Given the description of an element on the screen output the (x, y) to click on. 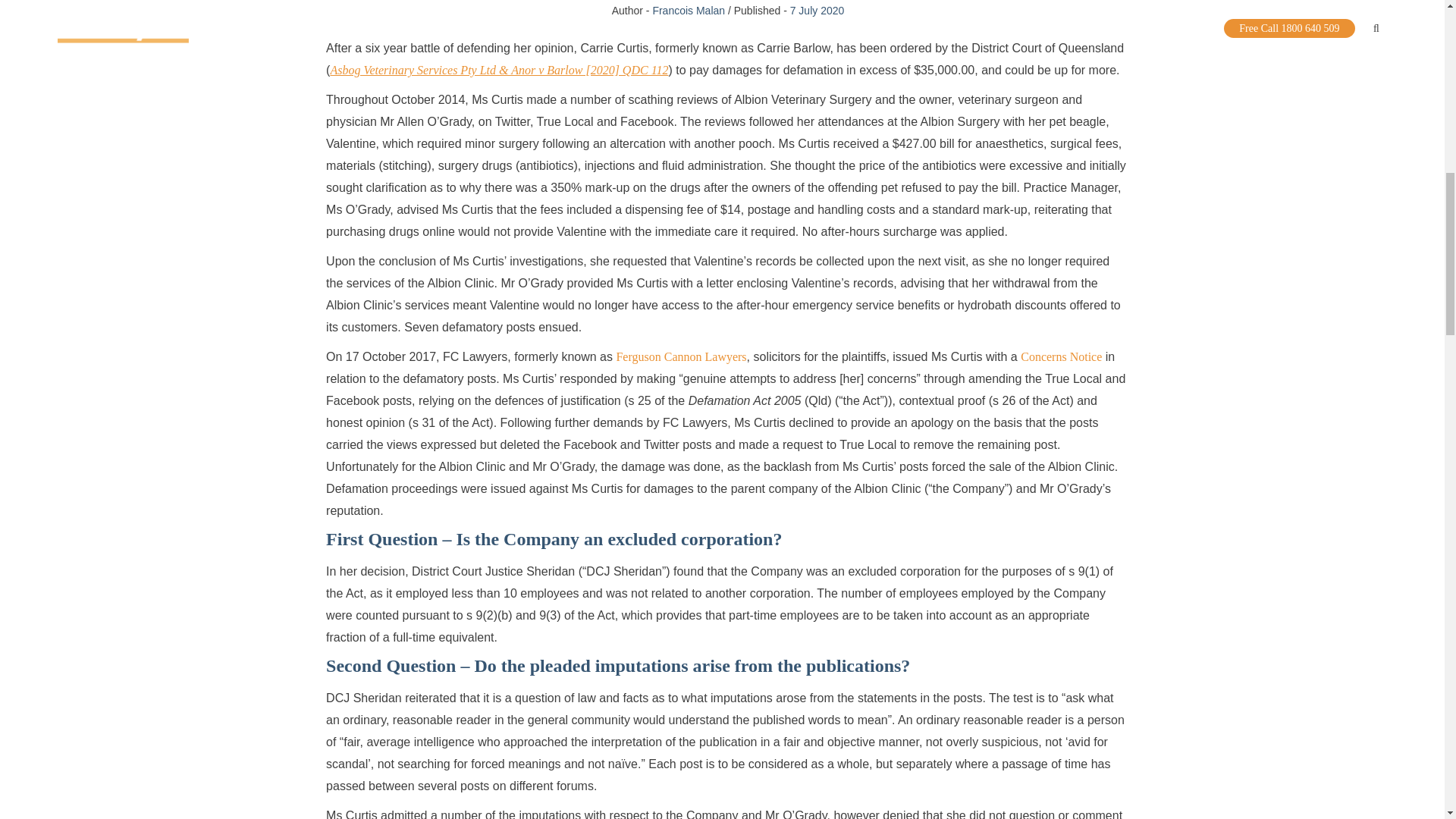
Concerns Notice (1061, 356)
Ferguson Cannon Lawyers (680, 356)
